Given the description of an element on the screen output the (x, y) to click on. 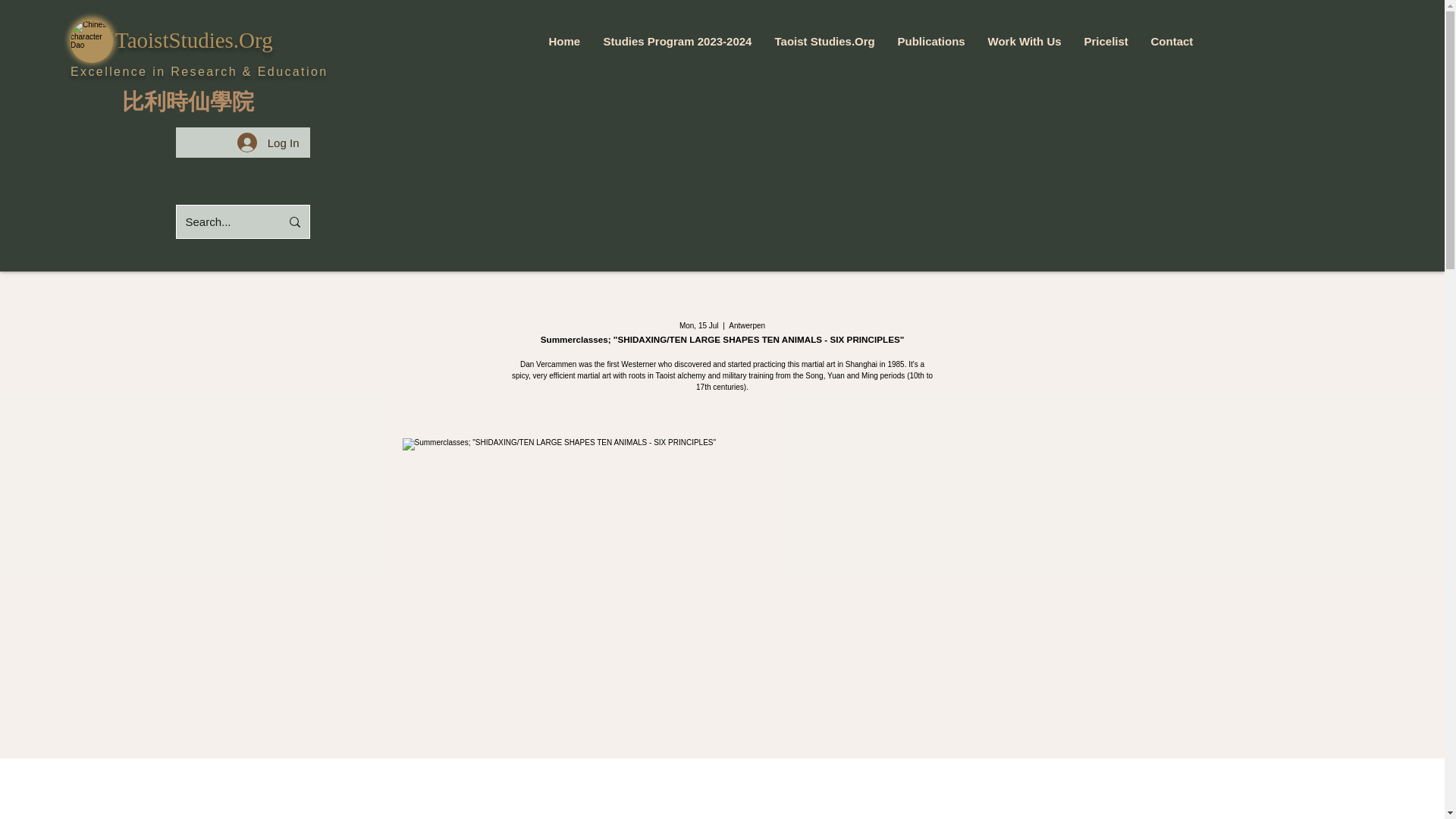
Publications (930, 41)
Home (564, 41)
Studies Program 2023-2024 (676, 41)
photo-output.PNG (91, 41)
Work With Us (1024, 41)
Contact (1171, 41)
Log In (268, 142)
TaoistStudies.Org (194, 39)
Pricelist (1104, 41)
Taoist Studies.Org (823, 41)
